Given the description of an element on the screen output the (x, y) to click on. 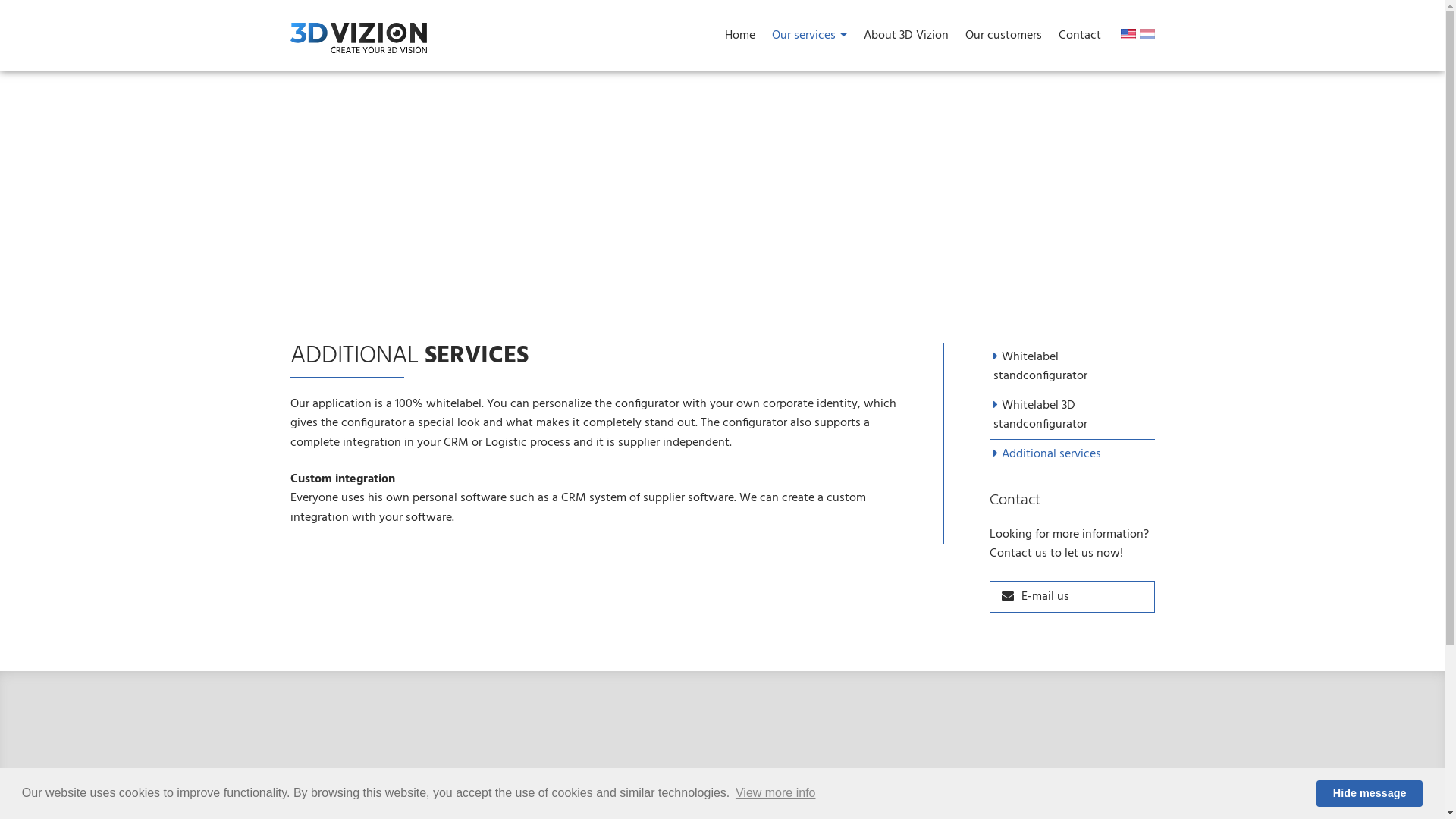
English (United States) Element type: hover (1127, 33)
Whitelabel 3D standconfigurator Element type: text (1071, 415)
3D Vizion Element type: hover (357, 37)
Additional services Element type: text (1071, 454)
Contact Element type: text (1079, 37)
Nederlands (Nederland) Element type: hover (1146, 33)
View more info Element type: text (775, 792)
Our customers Element type: text (1003, 37)
About 3D Vizion Element type: text (905, 37)
Whitelabel standconfigurator Element type: text (1071, 366)
Hide message Element type: text (1369, 792)
Our services Element type: text (808, 36)
E-mail us Element type: text (1071, 596)
Home Element type: text (739, 37)
